Given the description of an element on the screen output the (x, y) to click on. 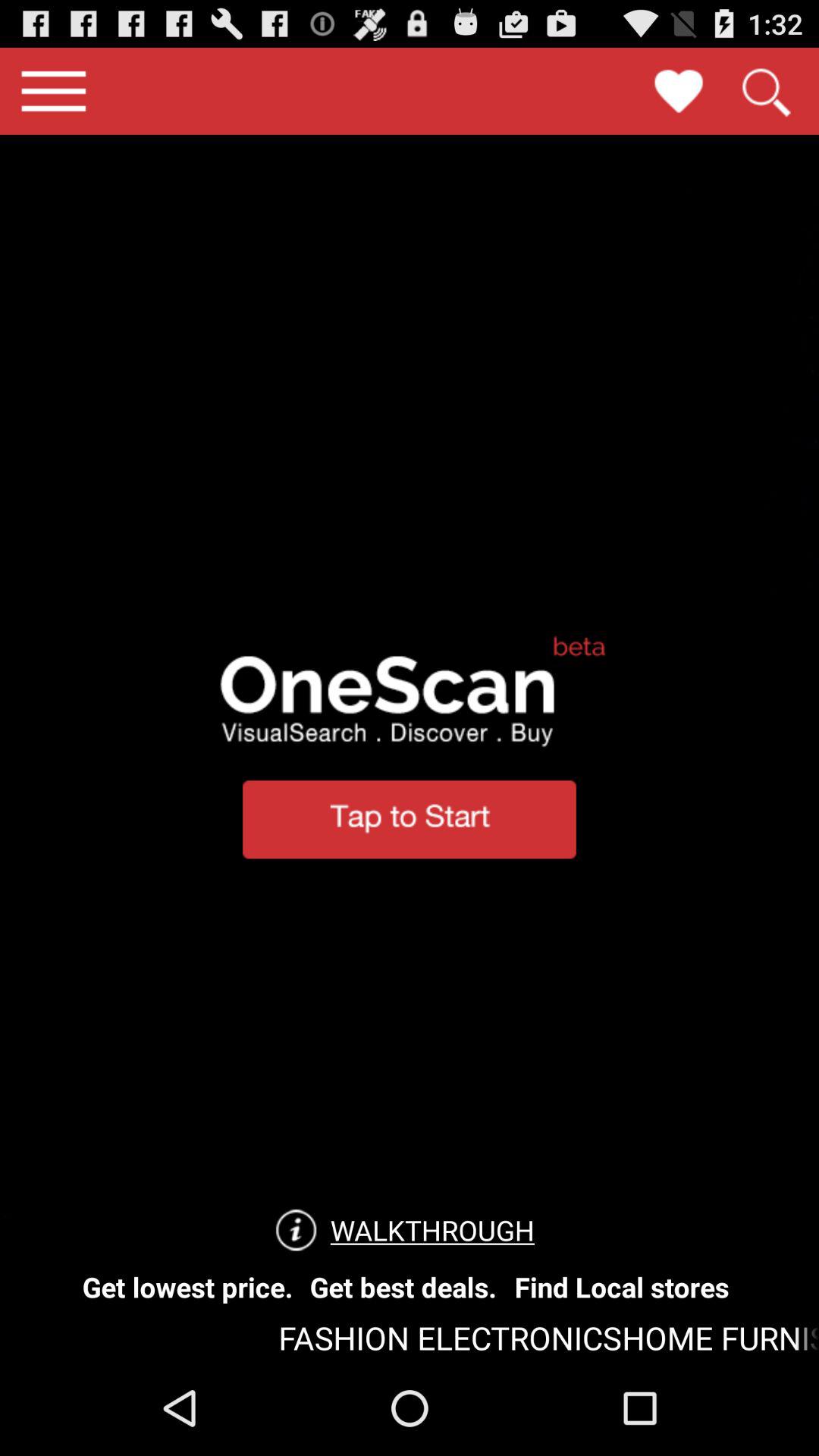
search (764, 91)
